Given the description of an element on the screen output the (x, y) to click on. 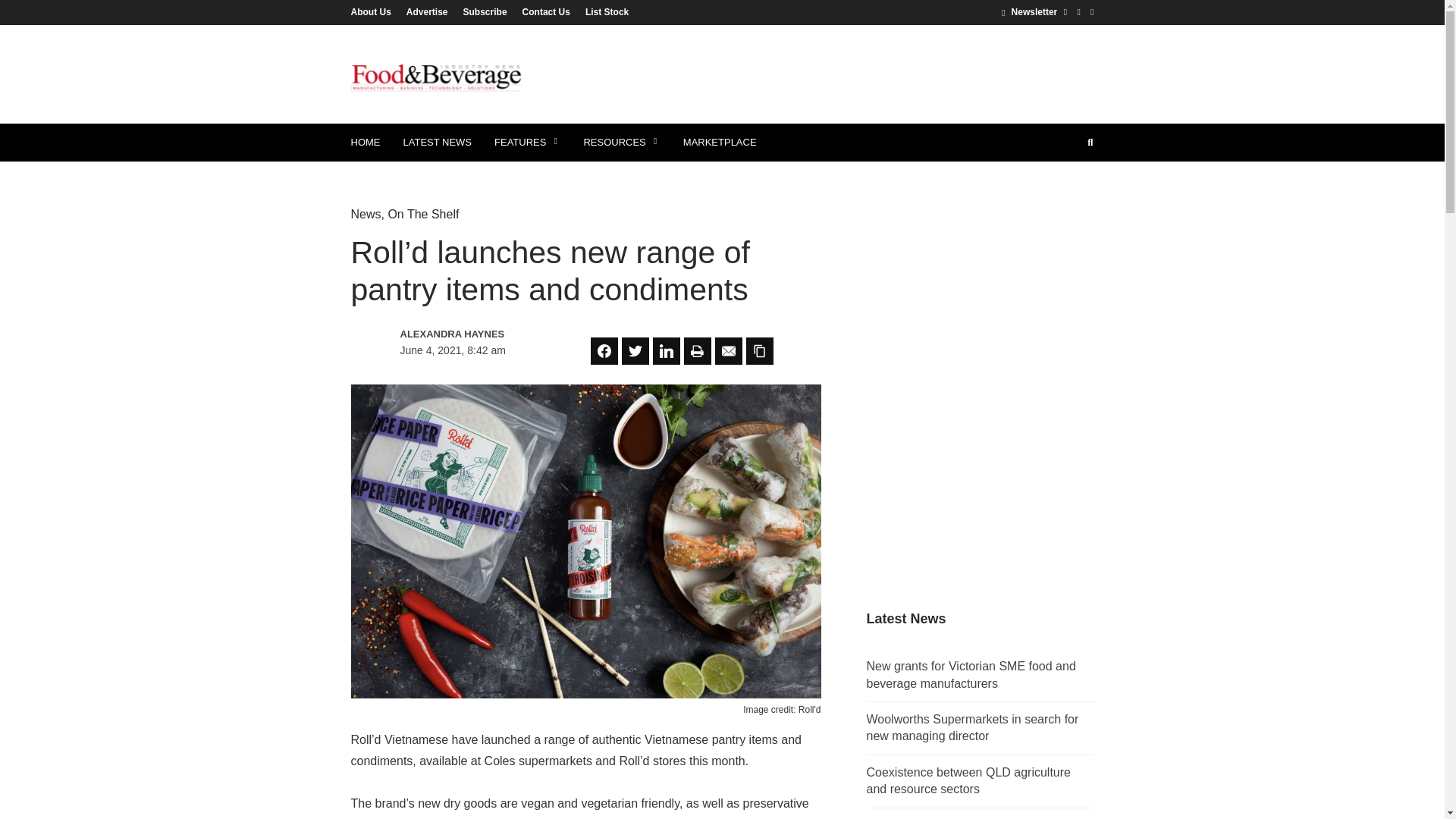
Share on LinkedIn (665, 350)
List Stock (603, 11)
Contact Us (546, 11)
Share on Copy Link (759, 350)
LATEST NEWS (437, 142)
FEATURES (527, 142)
Share on Twitter (635, 350)
Subscribe (485, 11)
MARKETPLACE (719, 142)
On The Shelf (422, 214)
Share on Print (697, 350)
About Us (373, 11)
View all posts by Alexandra Haynes (465, 333)
HOME (365, 142)
RESOURCES (621, 142)
